Given the description of an element on the screen output the (x, y) to click on. 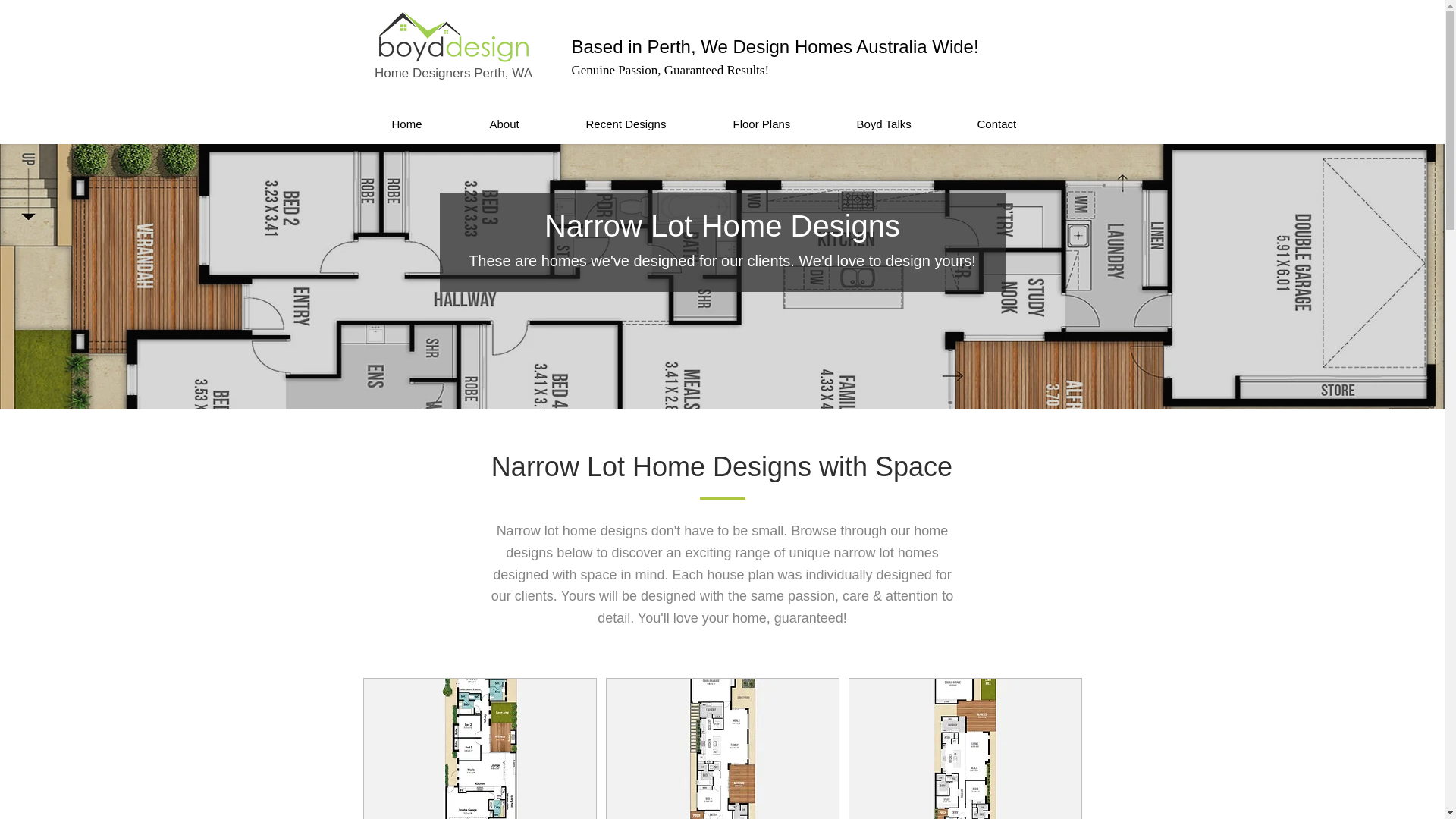
Home (428, 124)
Narrow-Lot Home Design - The Newyorker (479, 748)
Home Designers Perth, WA (453, 73)
Home Designers Perth, Boyd Design (453, 37)
Contact (1016, 124)
Floor Plans (782, 124)
Narrow-Lot House Plan - The Rhapsody (722, 748)
Narrow-Lot Home Design - The Freedom (964, 748)
